Given the description of an element on the screen output the (x, y) to click on. 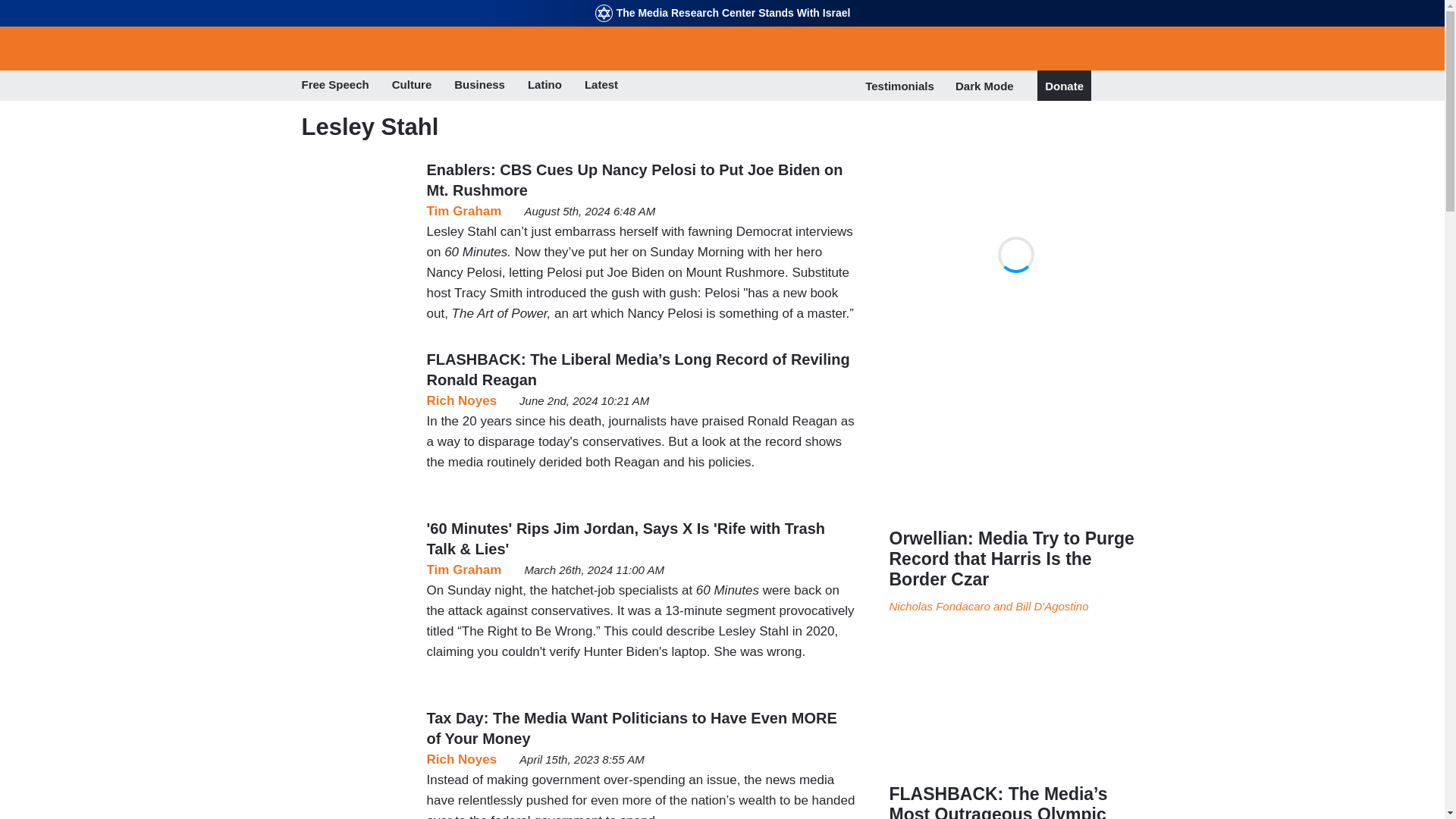
Latino (544, 85)
Testimonials (899, 85)
Dark Mode (984, 85)
Skip to main content (721, 1)
Donate (1064, 86)
Free Speech (335, 85)
Culture (411, 85)
Latest (601, 85)
Business (479, 85)
